Given the description of an element on the screen output the (x, y) to click on. 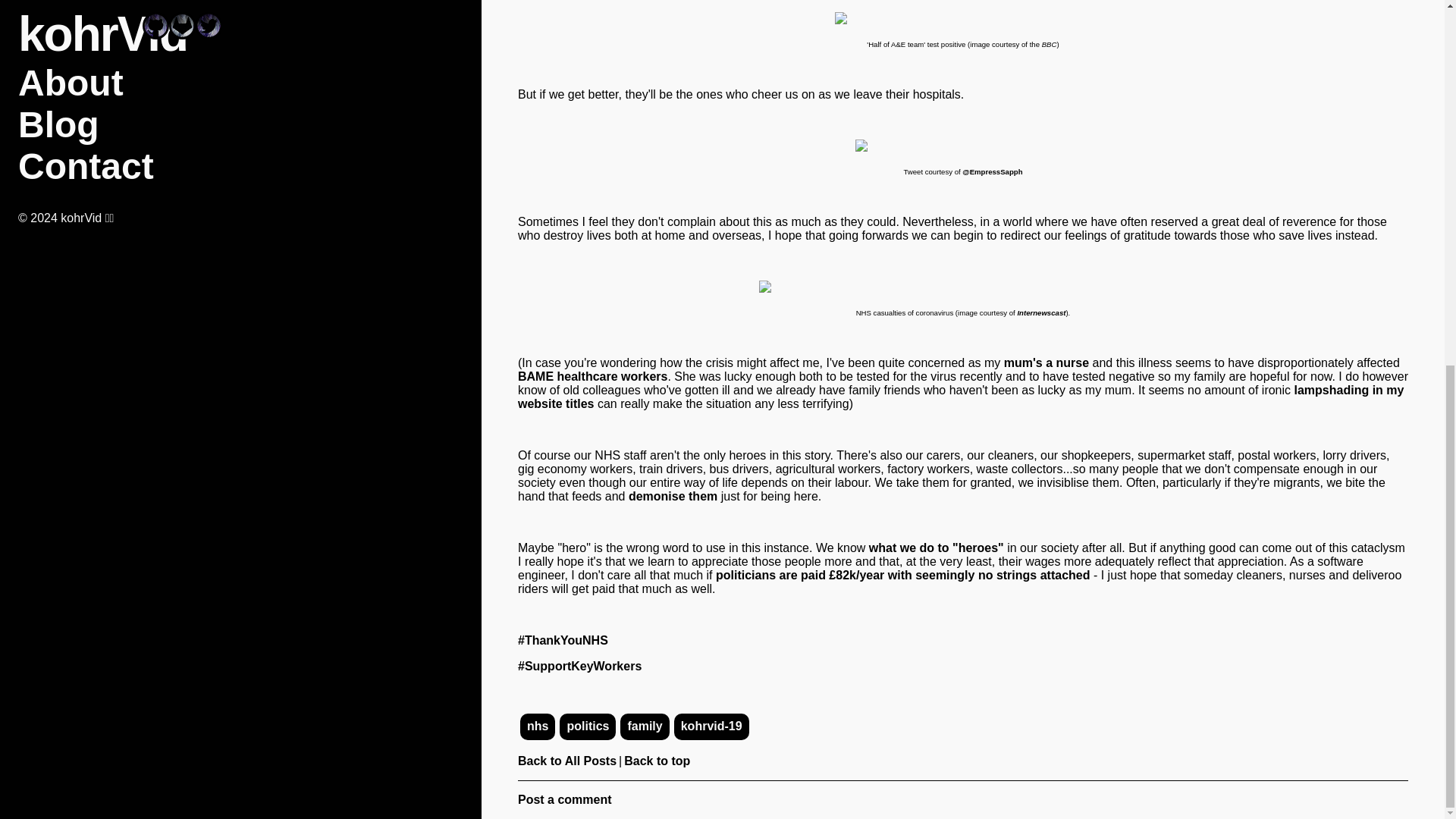
what we do to "heroes" (936, 547)
Post a comment (564, 799)
Back to top (657, 760)
Internewscast (1040, 312)
mum's a nurse (1046, 362)
politics (587, 725)
family (644, 725)
healthcare workers (612, 376)
demonise them (672, 495)
kohrvid-19 (711, 725)
